Given the description of an element on the screen output the (x, y) to click on. 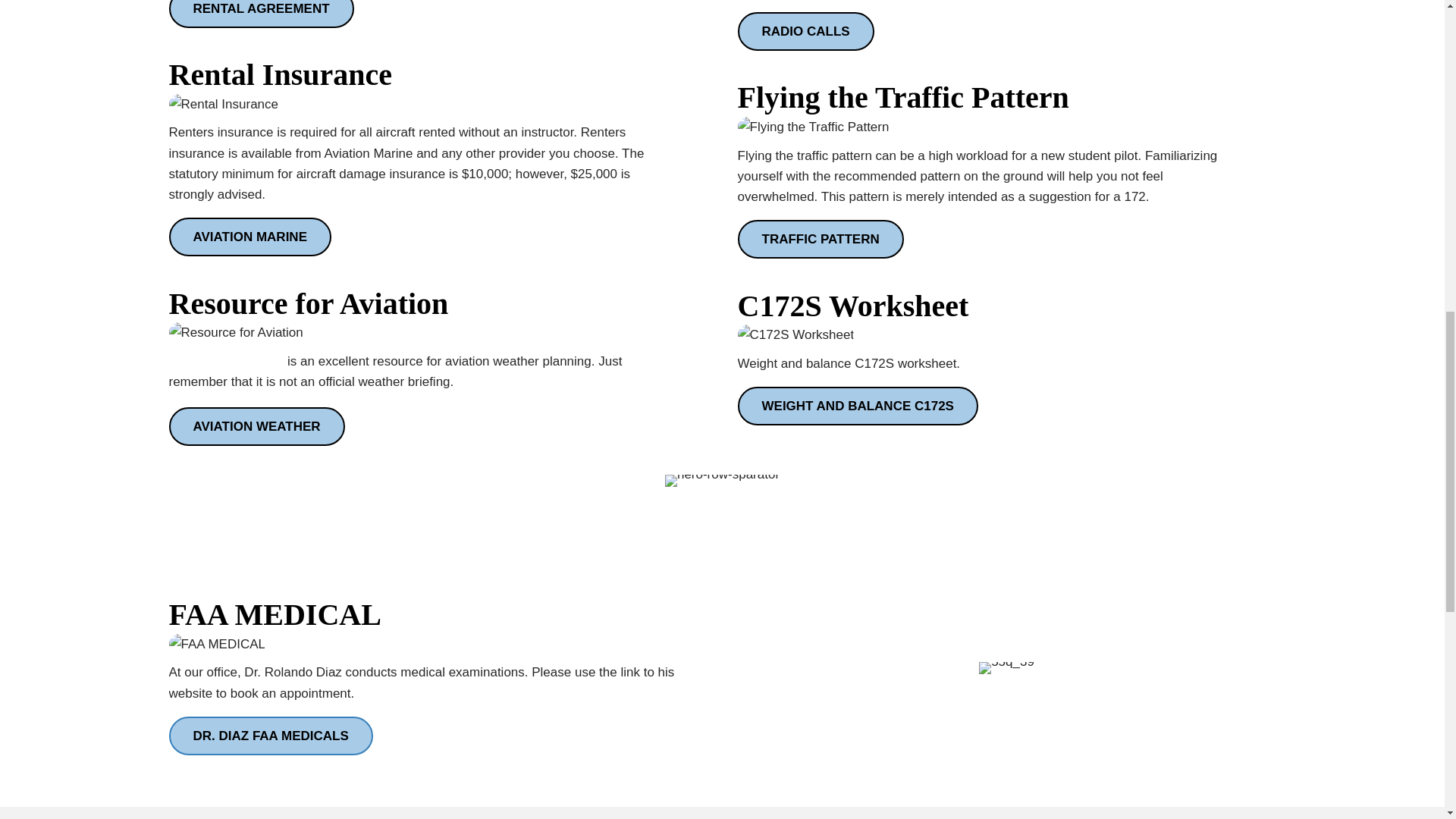
RENTAL AGREEMENT (260, 13)
AVIATION MARINE (249, 236)
AVIATION WEATHER (255, 426)
RADIO CALLS (804, 31)
WEIGHT AND BALANCE C172S (856, 405)
hero-row-sparator (721, 480)
DR. DIAZ FAA MEDICALS (270, 735)
Aviationweather.gov (225, 360)
TRAFFIC PATTERN (819, 239)
